Given the description of an element on the screen output the (x, y) to click on. 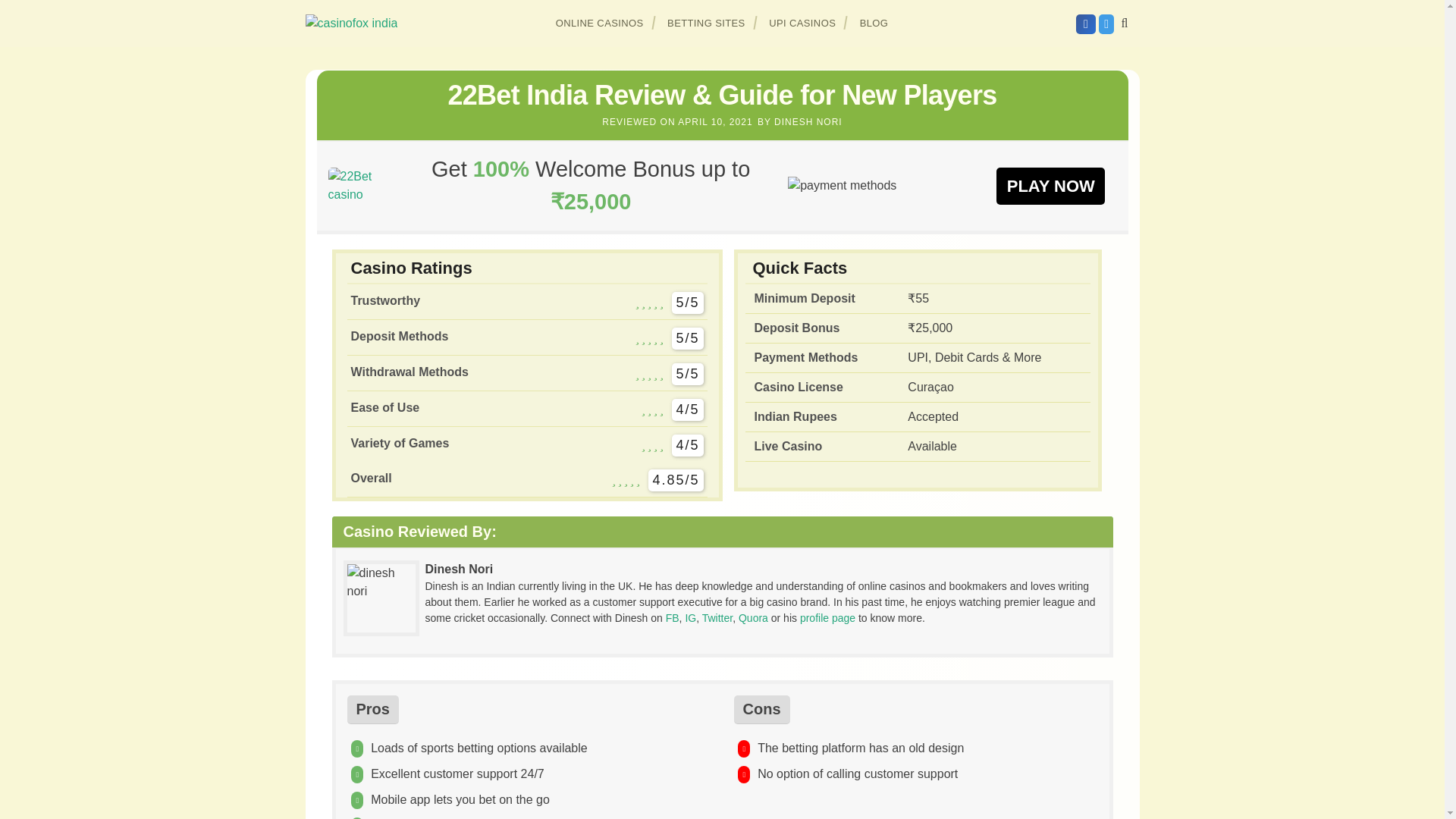
profile page (827, 617)
BLOG (874, 23)
Quora (753, 617)
FB (672, 617)
Twitter (716, 617)
22Bet (360, 185)
PLAY NOW (1050, 185)
22Bet (1050, 185)
BETTING SITES (706, 23)
IG (689, 617)
